Given the description of an element on the screen output the (x, y) to click on. 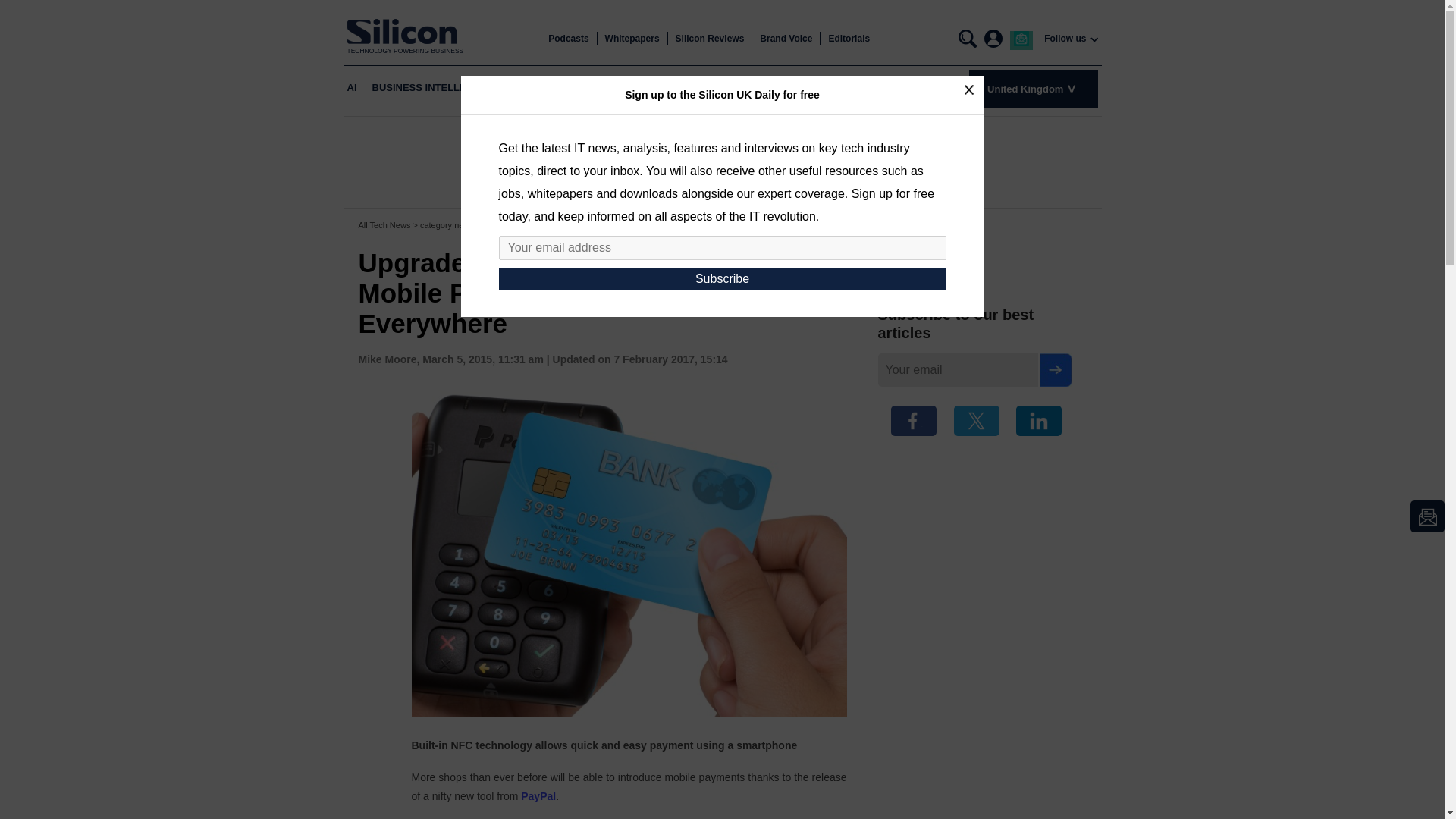
PayPal App Lets Drivers Pay For Fuel Via Smartphone (538, 796)
Whitepapers (632, 38)
Podcasts (568, 38)
Editorials (848, 38)
Brand Voice (786, 38)
CLOUD (529, 87)
SECURITY (853, 87)
United Kingdom (1033, 88)
Silicon UK (405, 31)
Silicon Reviews (709, 38)
